Given the description of an element on the screen output the (x, y) to click on. 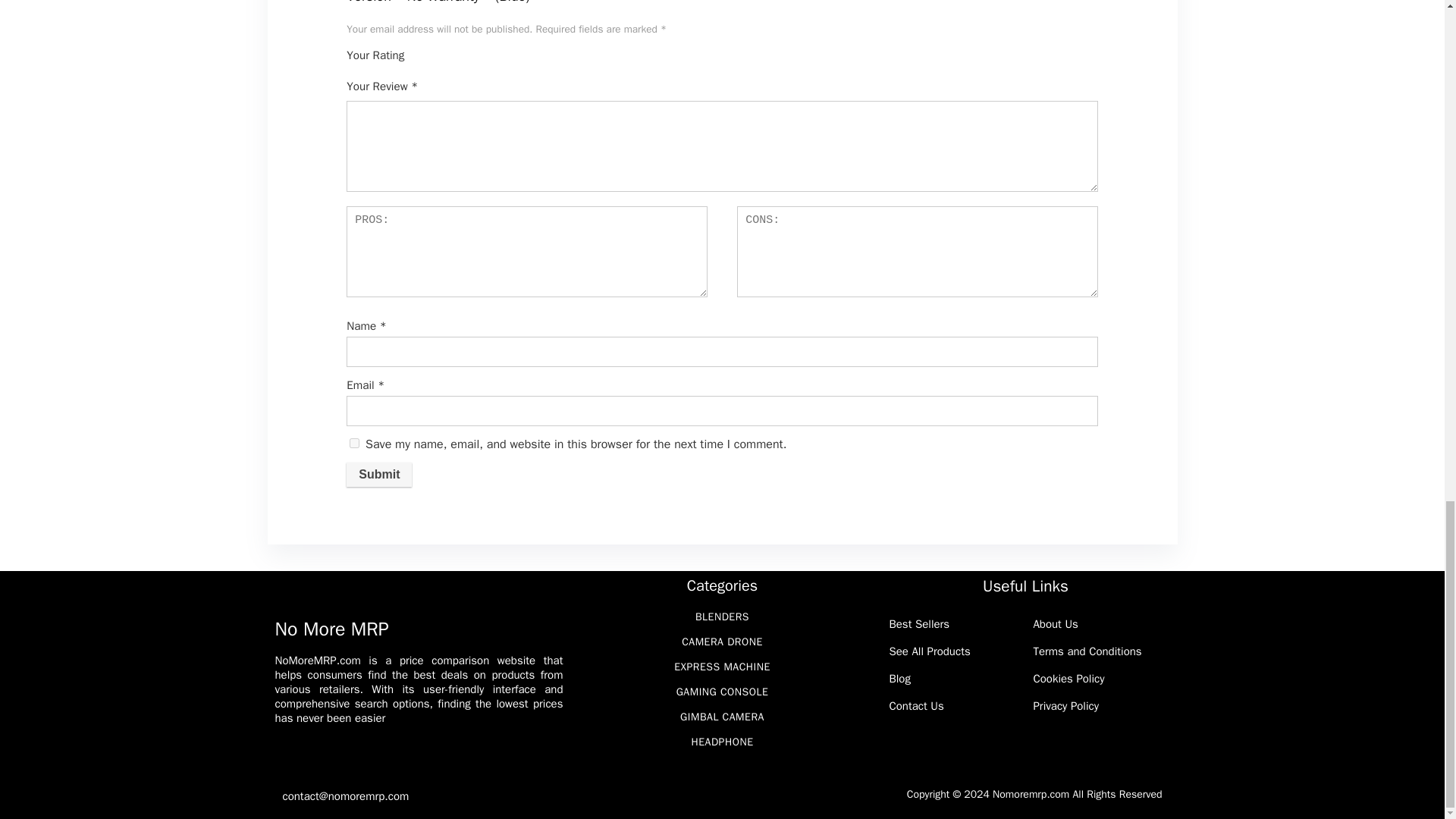
Submit (379, 474)
yes (354, 442)
2 (426, 61)
1 (421, 61)
